Given the description of an element on the screen output the (x, y) to click on. 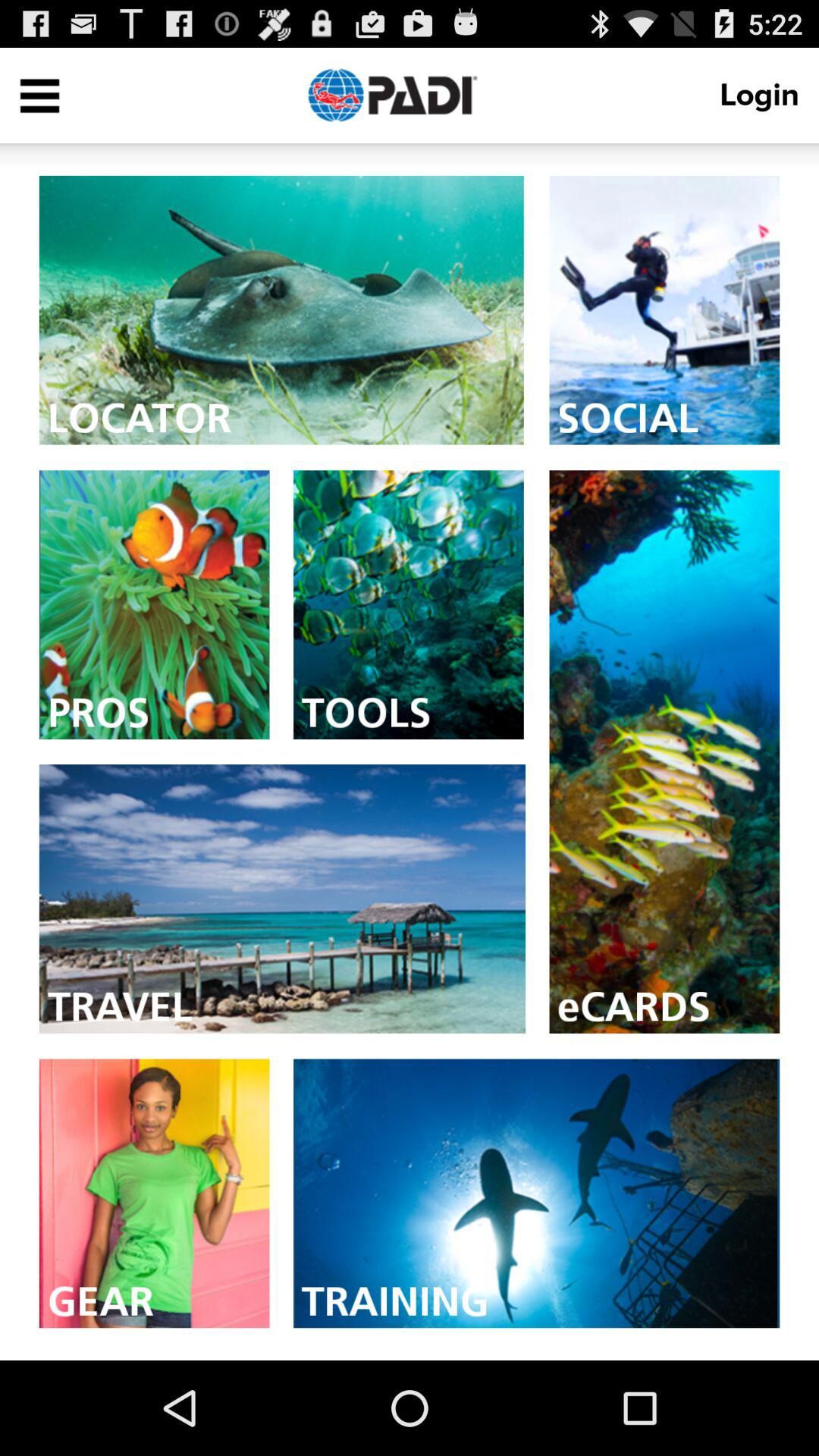
connect to travel (282, 898)
